Given the description of an element on the screen output the (x, y) to click on. 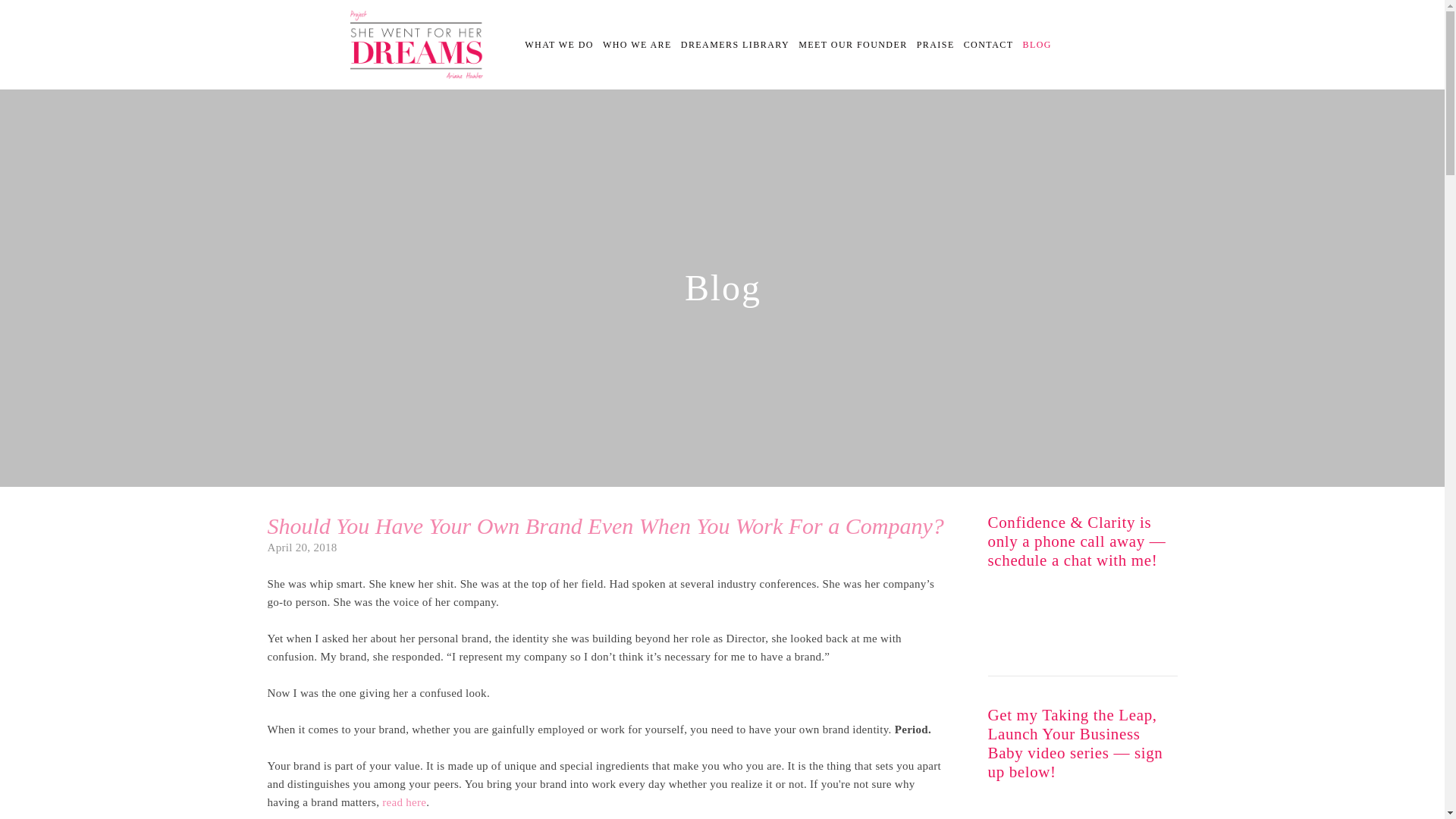
PRAISE (935, 44)
CONTACT (988, 44)
April 20, 2018 (301, 547)
WHO WE ARE (637, 44)
BLOG (1036, 44)
MEET OUR FOUNDER (852, 44)
WHAT WE DO (558, 44)
read here (403, 802)
DREAMERS LIBRARY (735, 44)
